Given the description of an element on the screen output the (x, y) to click on. 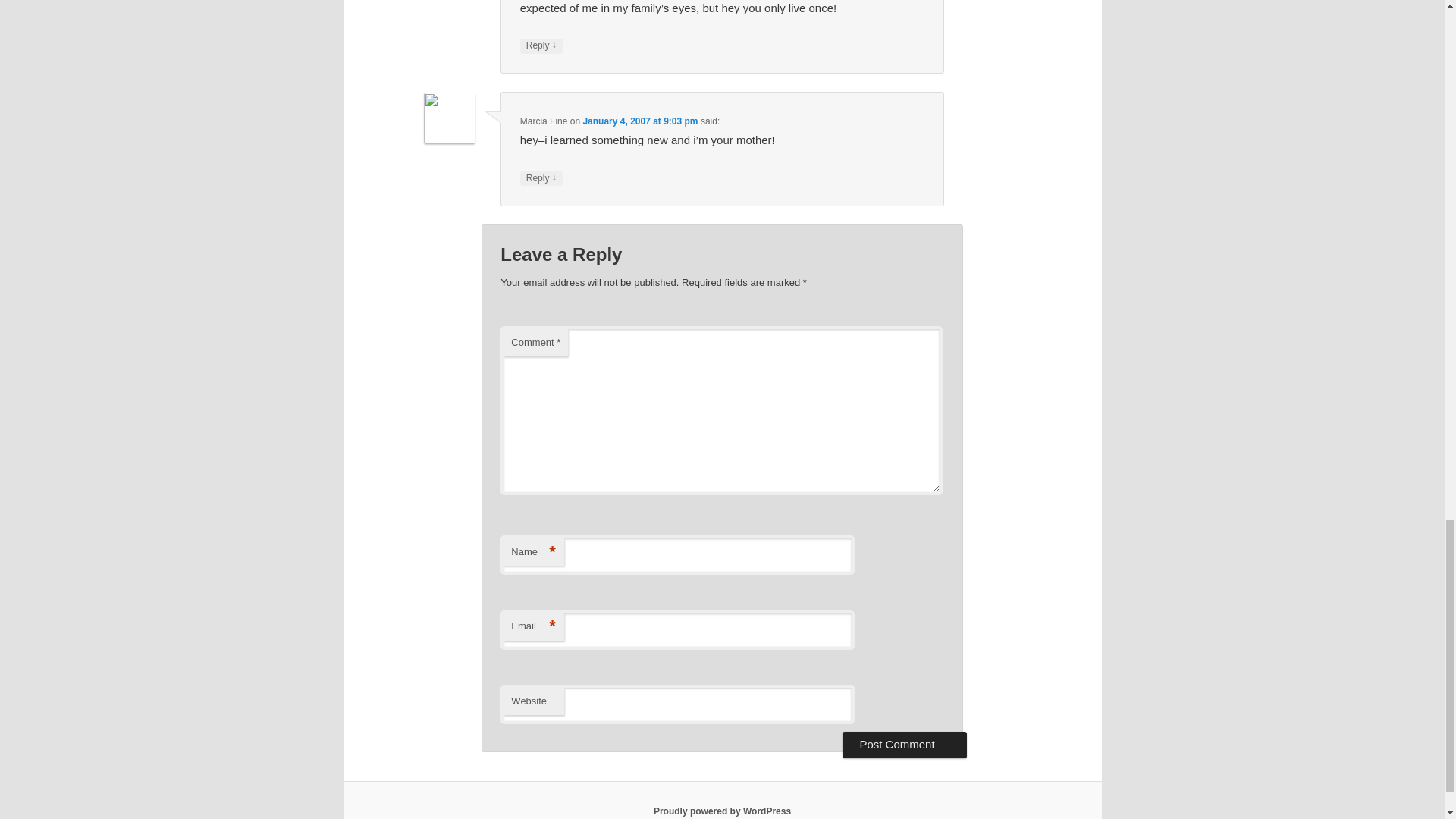
Semantic Personal Publishing Platform (721, 810)
Proudly powered by WordPress (721, 810)
Post Comment (904, 744)
January 4, 2007 at 9:03 pm (639, 121)
Post Comment (904, 744)
